Given the description of an element on the screen output the (x, y) to click on. 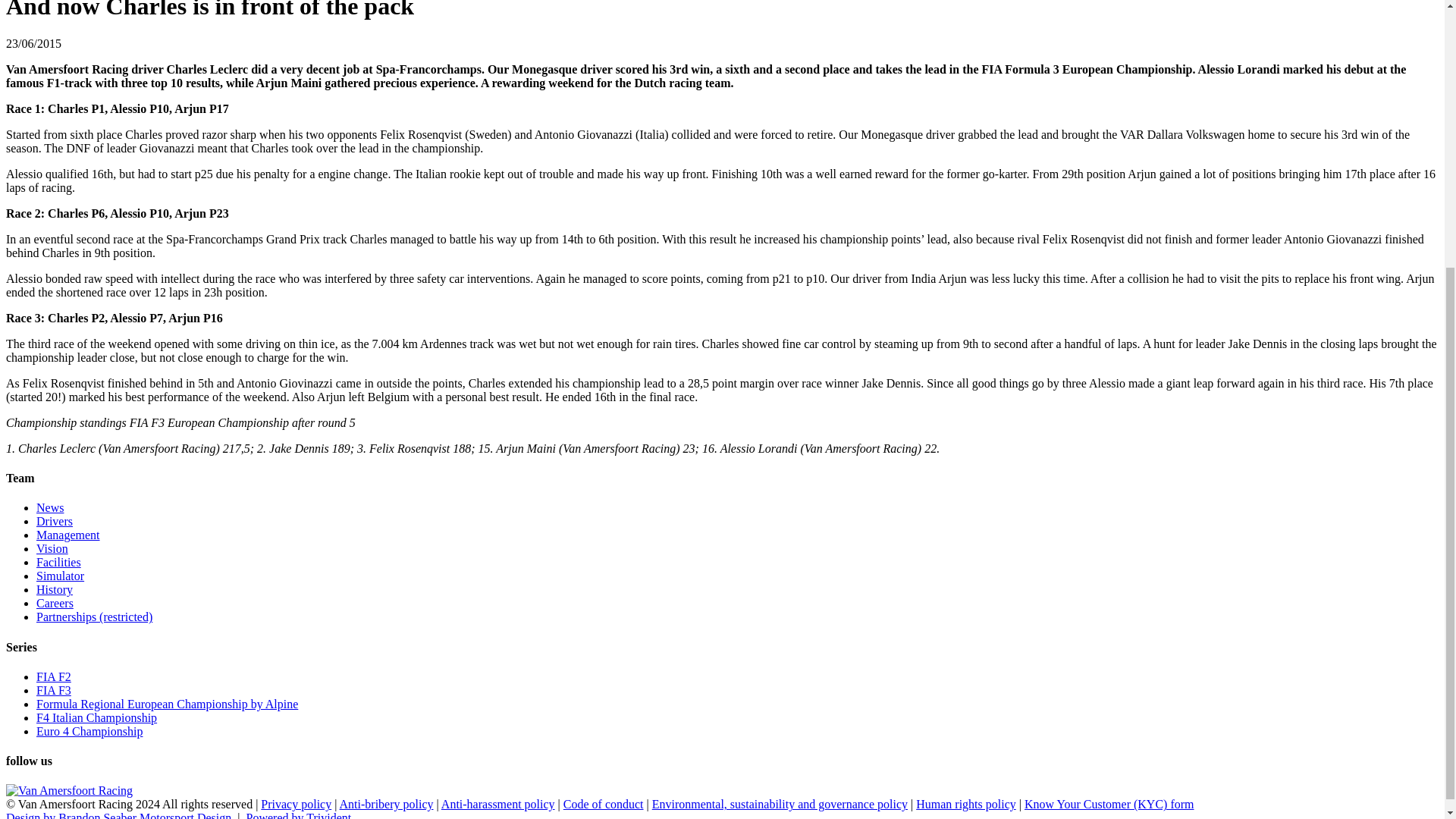
History (54, 589)
Facilities (58, 562)
Simulator (60, 575)
Vision (52, 548)
News (50, 507)
Management (68, 534)
Drivers (54, 521)
